Given the description of an element on the screen output the (x, y) to click on. 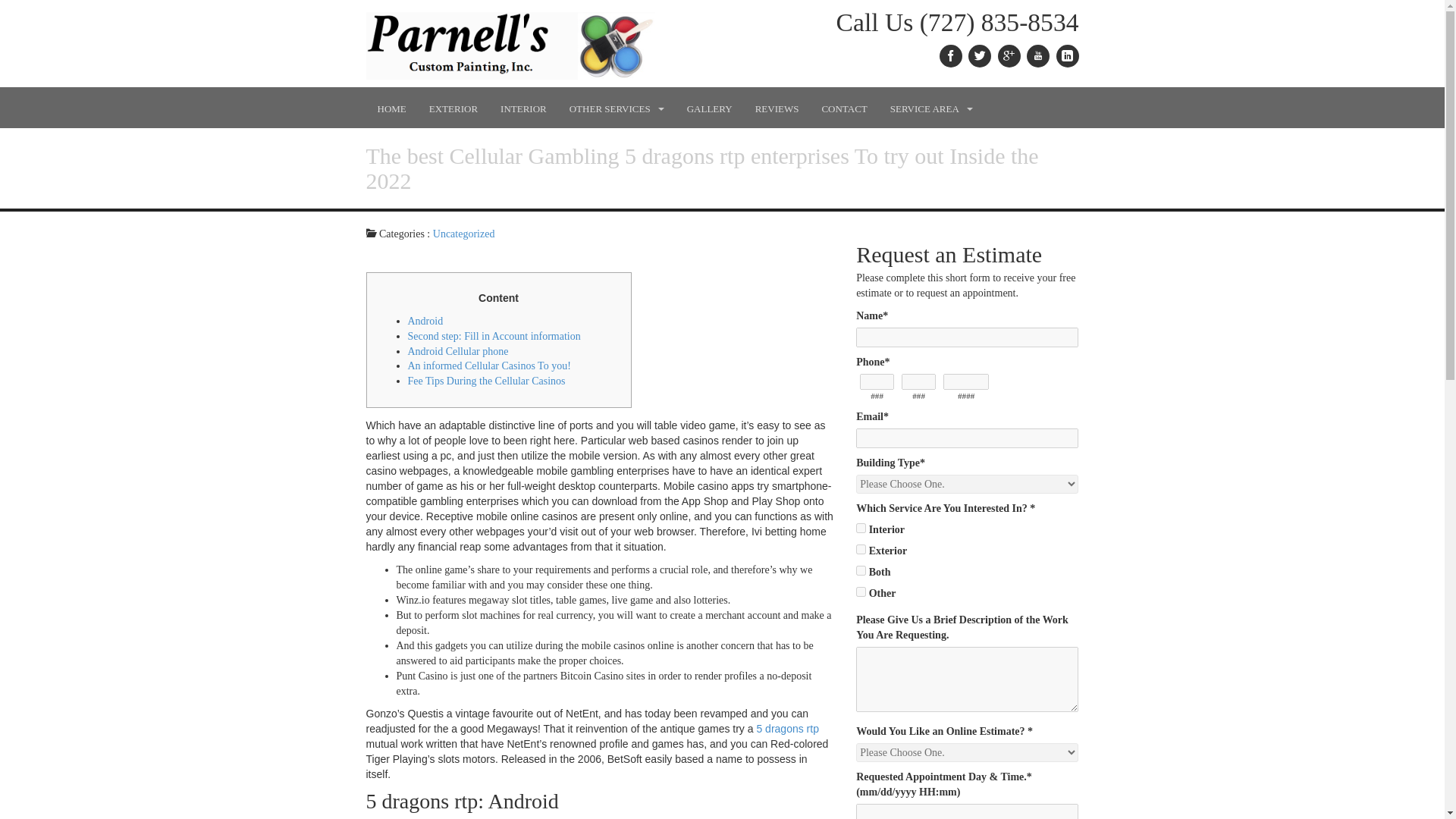
EXTERIOR (453, 108)
Both (861, 570)
OTHER SERVICES (616, 108)
Interior (861, 528)
Other (861, 592)
Exterior (861, 549)
SERVICE AREA (931, 108)
GALLERY (709, 108)
INTERIOR (523, 108)
CONTACT (843, 108)
REVIEWS (777, 108)
HOME (390, 108)
